Given the description of an element on the screen output the (x, y) to click on. 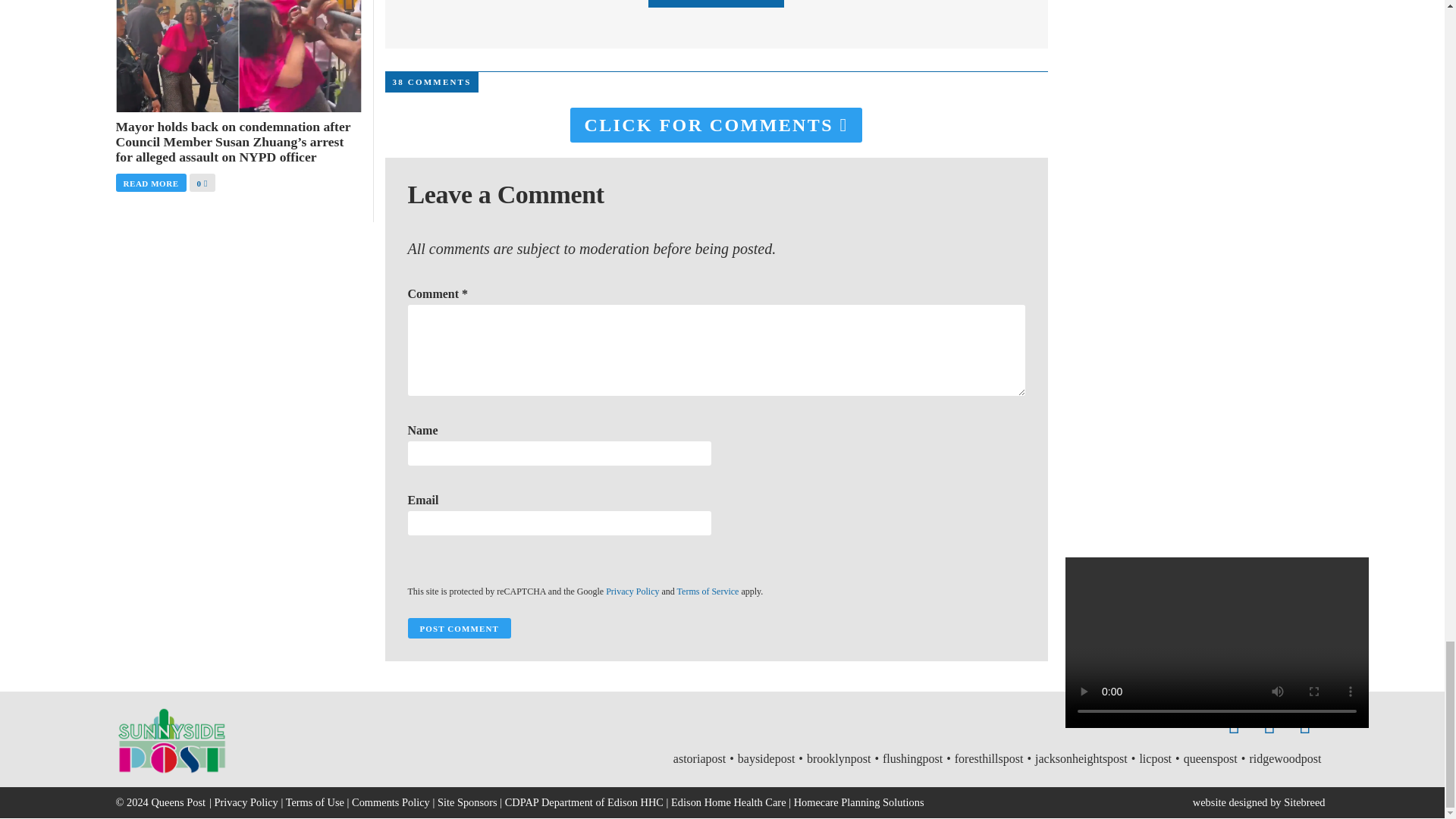
Post Comment (459, 628)
